Given the description of an element on the screen output the (x, y) to click on. 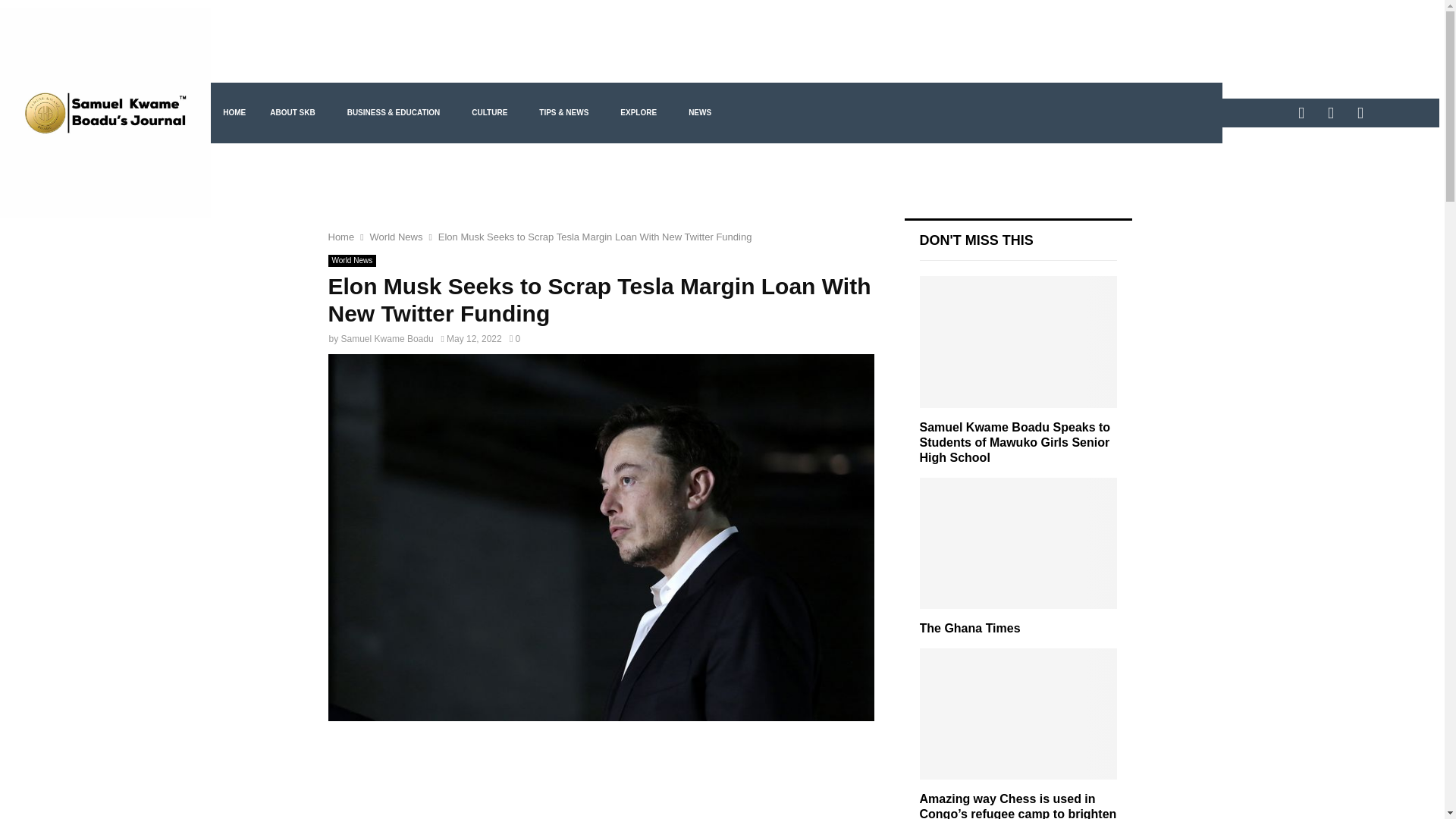
 The Ghana Times  (969, 627)
The Ghana Times (1017, 543)
CULTURE (493, 112)
Advertisement (600, 781)
NEWS (703, 112)
ABOUT SKB (295, 112)
EXPLORE (642, 112)
